Given the description of an element on the screen output the (x, y) to click on. 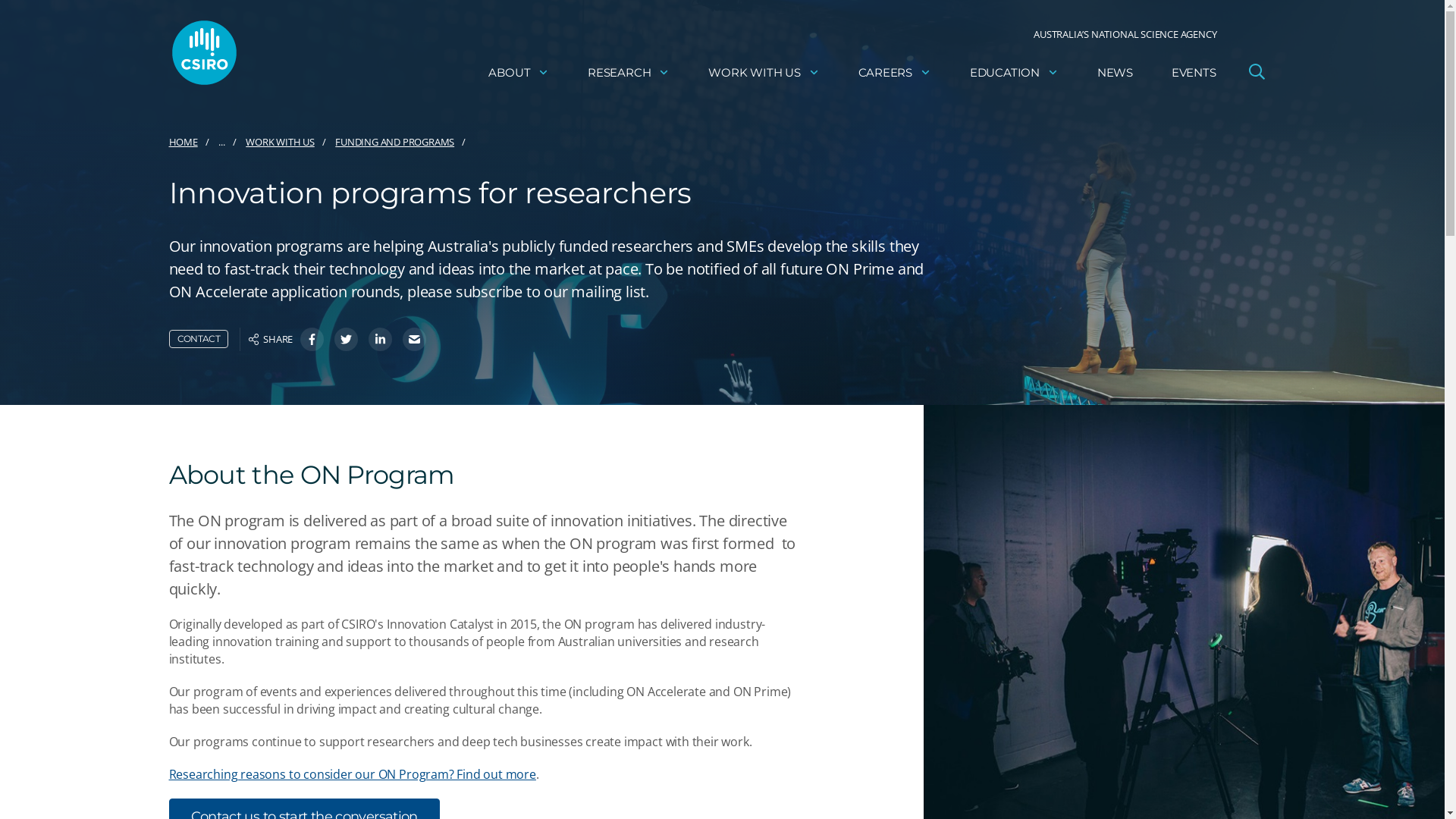
RESEARCH Element type: text (628, 72)
CAREERS Element type: text (894, 72)
FUNDING AND PROGRAMS Element type: text (394, 141)
HOME Element type: text (182, 141)
ABOUT Element type: text (518, 72)
NEWS Element type: text (1114, 72)
EDUCATION Element type: text (1013, 72)
CONTACT Element type: text (198, 338)
WORK WITH US Element type: text (279, 141)
WORK WITH US Element type: text (763, 72)
EVENTS Element type: text (1193, 72)
